Given the description of an element on the screen output the (x, y) to click on. 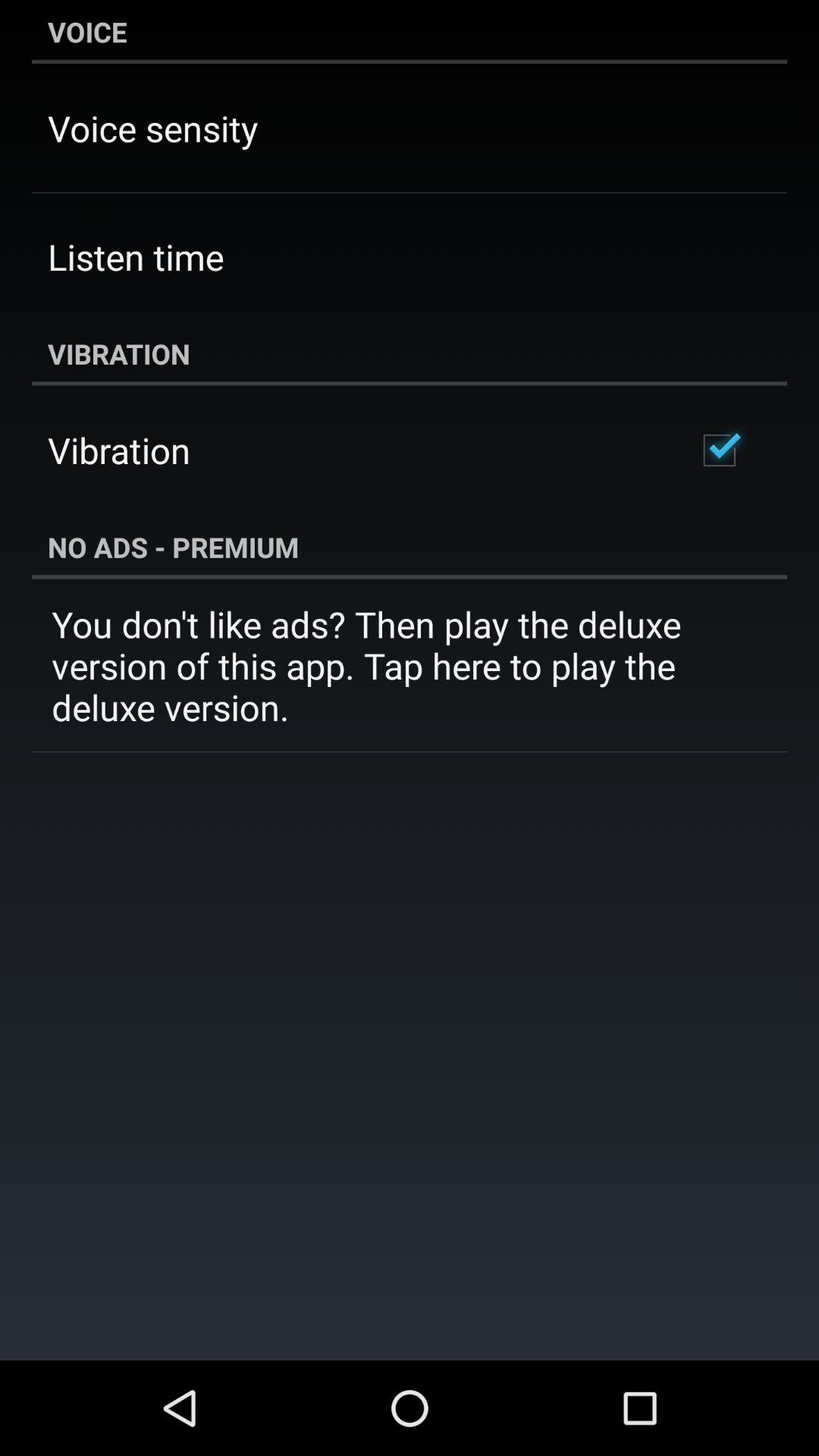
click app above vibration app (135, 256)
